Given the description of an element on the screen output the (x, y) to click on. 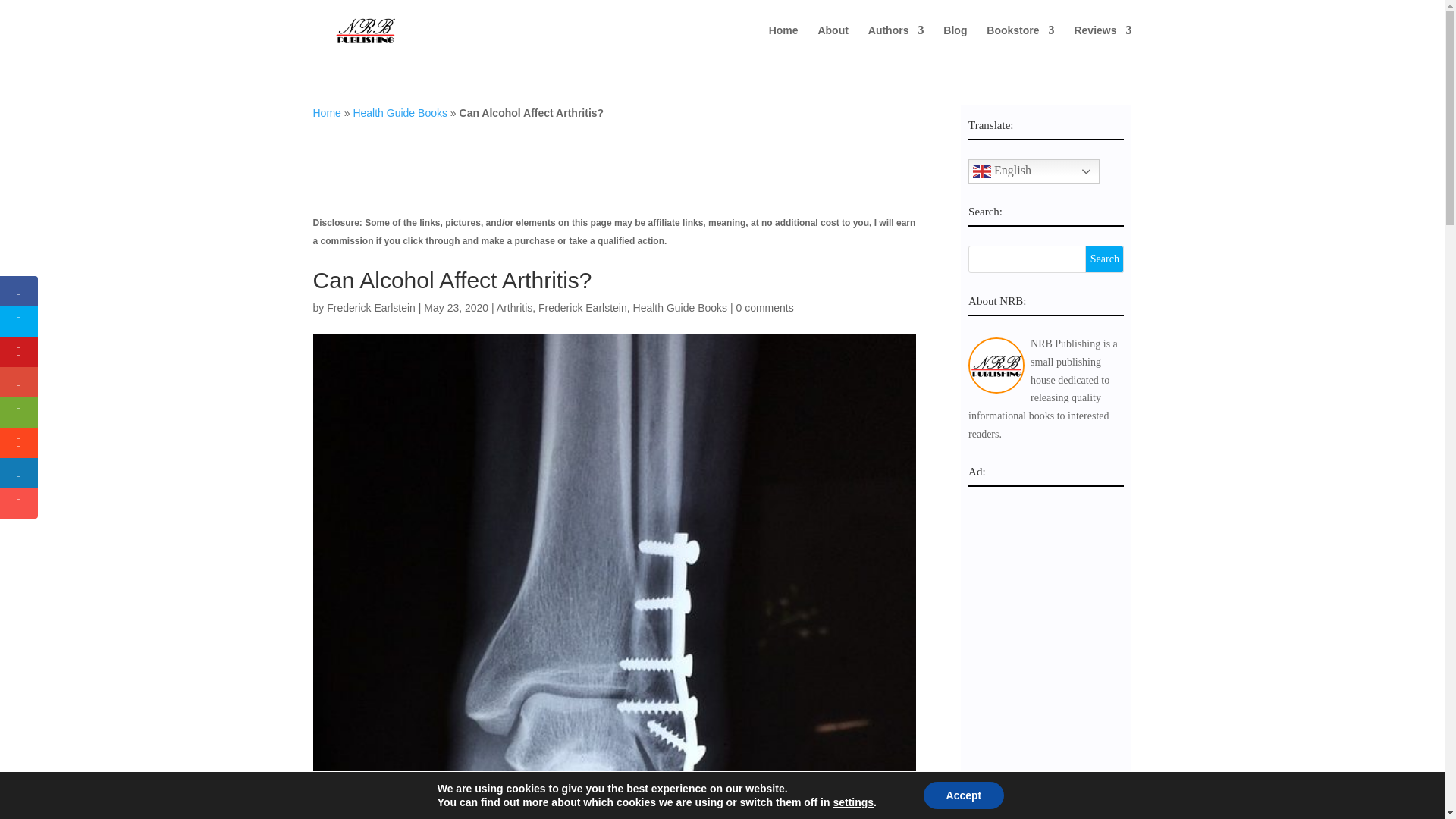
Search (1104, 258)
Authors (895, 42)
Bookstore (1020, 42)
Posts by Frederick Earlstein (370, 307)
Reviews (1102, 42)
